Given the description of an element on the screen output the (x, y) to click on. 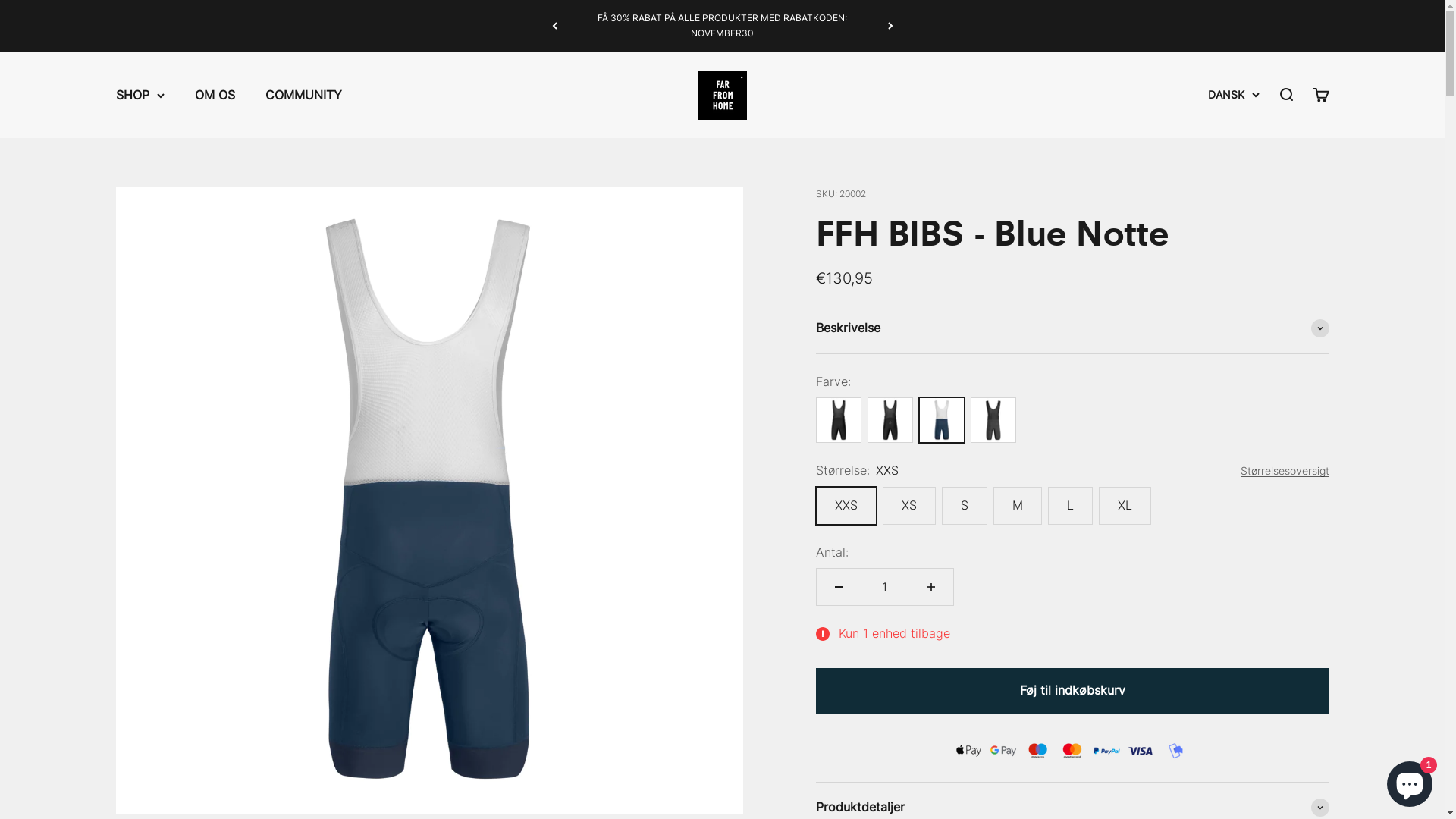
OM OS Element type: text (214, 93)
COMMUNITY Element type: text (303, 93)
Shopify-webshopchat Element type: hover (1409, 780)
FAR FROM HOME Element type: text (721, 94)
DANSK Element type: text (1232, 94)
